Given the description of an element on the screen output the (x, y) to click on. 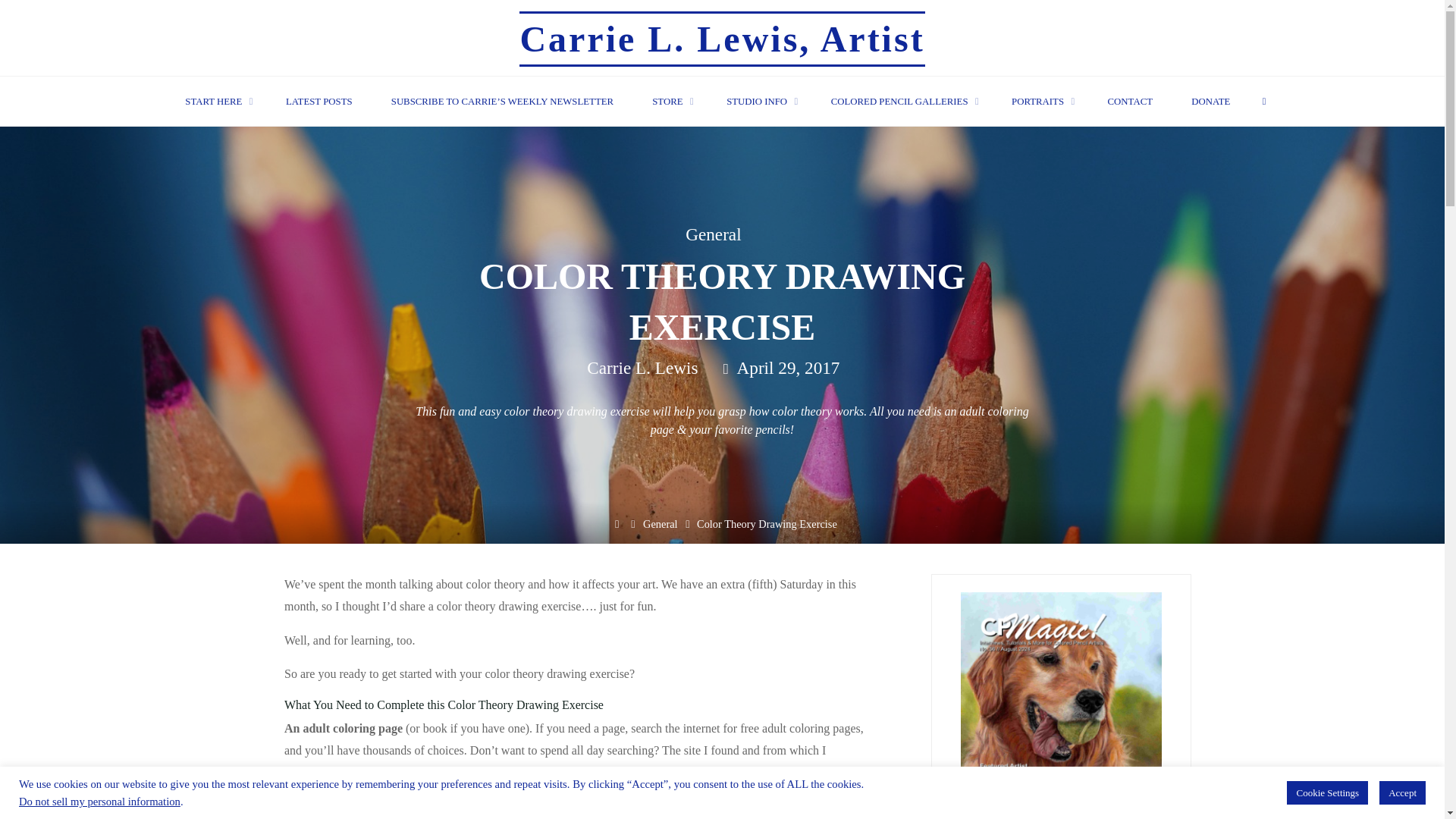
Date (726, 368)
Carrie L. Lewis, Artist (721, 38)
View all posts by Carrie L. Lewis (641, 368)
Home (616, 523)
